Given the description of an element on the screen output the (x, y) to click on. 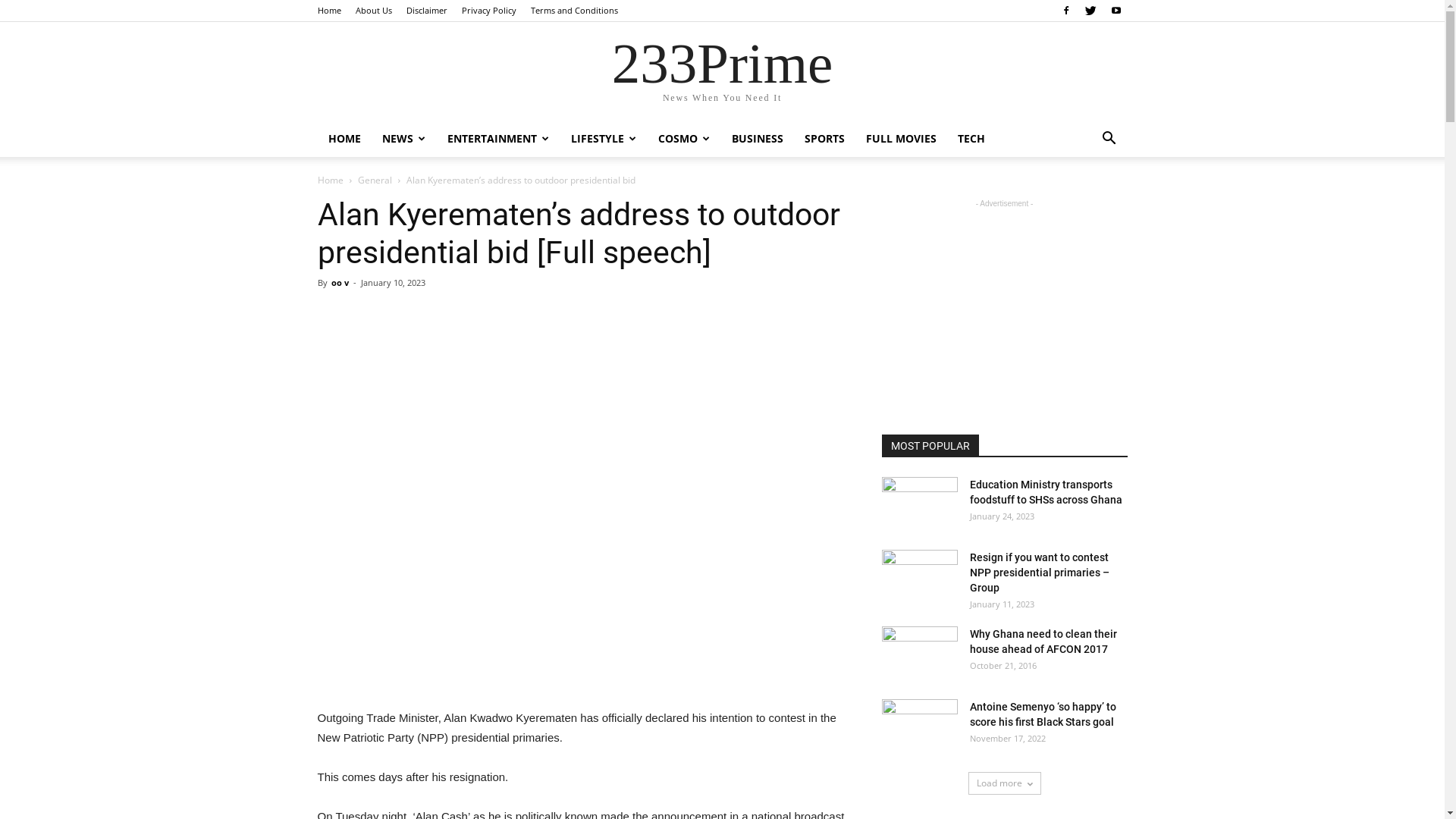
General Element type: text (374, 179)
NEWS Element type: text (403, 138)
Advertisement Element type: hover (1003, 306)
Privacy Policy Element type: text (488, 9)
HOME Element type: text (343, 138)
FULL MOVIES Element type: text (901, 138)
Why Ghana need to clean their house ahead of AFCON 2017 Element type: text (1042, 641)
oo v Element type: text (339, 282)
LIFESTYLE Element type: text (602, 138)
Why Ghana need to clean their house ahead of AFCON 2017 Element type: hover (919, 652)
Search Element type: text (1085, 199)
Twitter Element type: hover (1090, 10)
Education Ministry transports foodstuff to SHSs across Ghana Element type: text (1045, 491)
SPORTS Element type: text (823, 138)
BUSINESS Element type: text (756, 138)
Alan 2 (1) Element type: hover (580, 466)
233Prime News When You Need It Element type: text (722, 71)
About Us Element type: text (372, 9)
COSMO Element type: text (684, 138)
Disclaimer Element type: text (426, 9)
Load more Element type: text (1003, 782)
TECH Element type: text (970, 138)
Home Element type: text (329, 179)
Terms and Conditions Element type: text (574, 9)
ENTERTAINMENT Element type: text (498, 138)
Home Element type: text (328, 9)
Youtube Element type: hover (1115, 10)
Facebook Element type: hover (1065, 10)
Advertisement Element type: hover (580, 669)
Education Ministry transports foodstuff to SHSs across Ghana Element type: hover (919, 503)
